Given the description of an element on the screen output the (x, y) to click on. 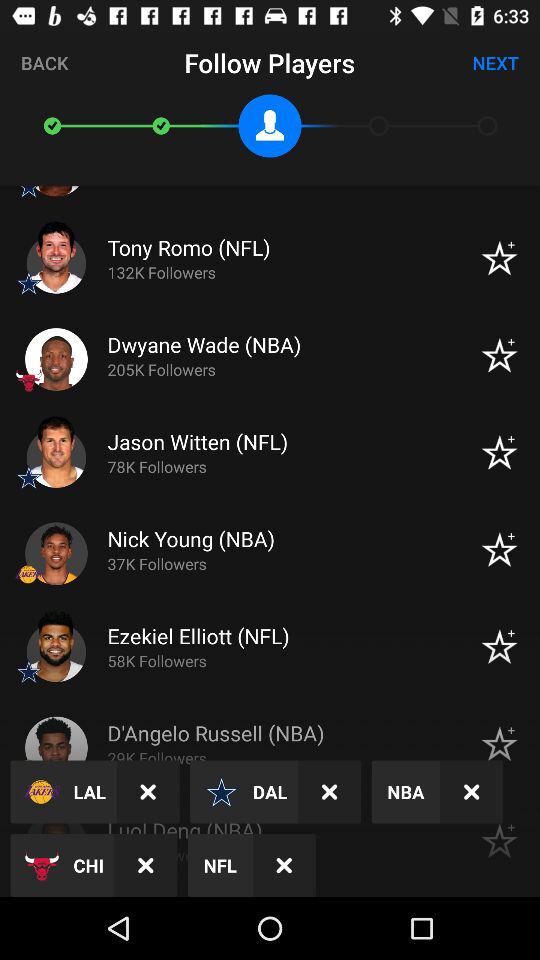
click item next to the nba icon (471, 791)
